Given the description of an element on the screen output the (x, y) to click on. 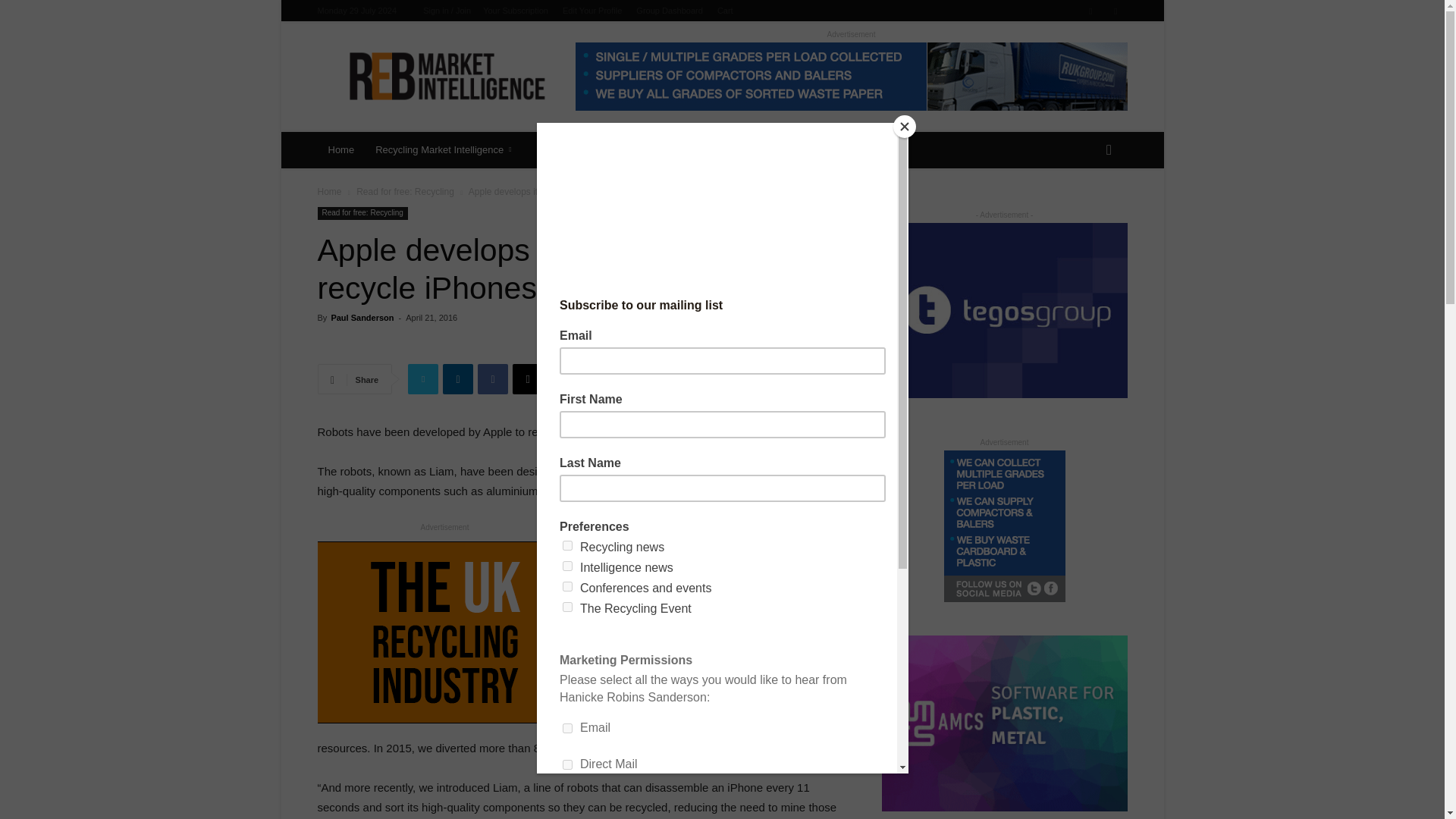
View all posts in Read for free: Recycling (405, 191)
Edit Your Profile (591, 10)
Group Dashboard (668, 10)
REB Market Intelligence (445, 76)
Your Subscription (515, 10)
Twitter (1114, 10)
Cart (725, 10)
Recycling Market Intelligence (446, 149)
Home (341, 149)
Linkedin (1090, 10)
